Given the description of an element on the screen output the (x, y) to click on. 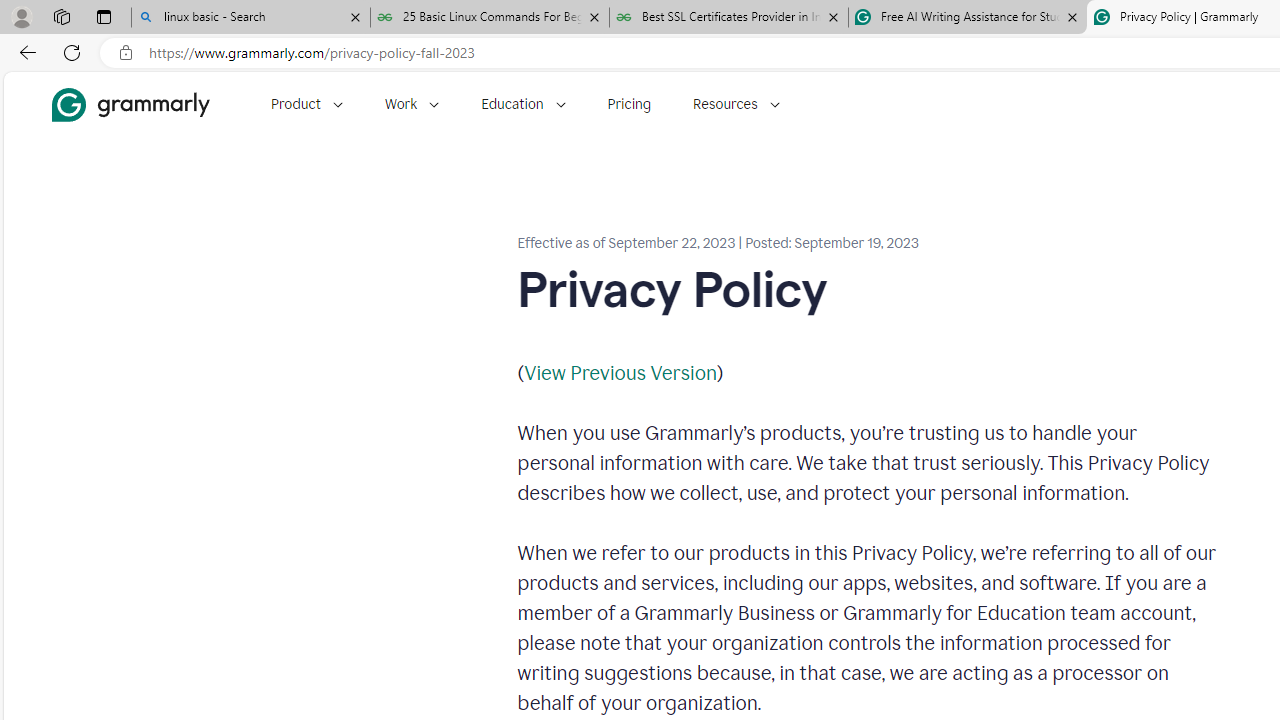
Grammarly Home (130, 104)
25 Basic Linux Commands For Beginners - GeeksforGeeks (490, 17)
Product (306, 103)
Resources (736, 104)
Product (306, 104)
Work (412, 103)
Resources (736, 103)
Education (523, 104)
Pricing (629, 103)
